Given the description of an element on the screen output the (x, y) to click on. 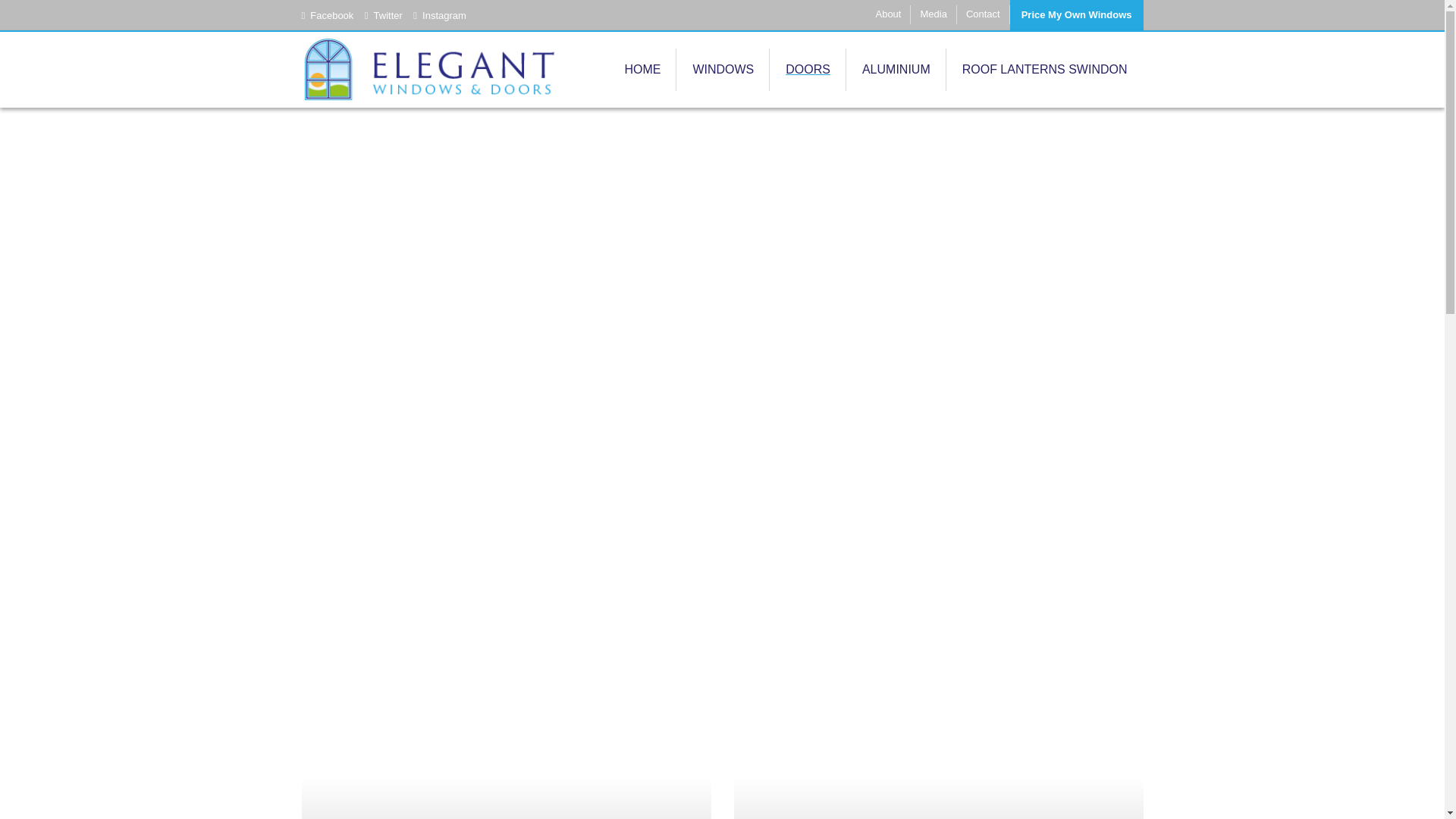
ROOF LANTERNS SWINDON (1044, 69)
Media (933, 14)
Contact (983, 14)
Price My Own Windows (1076, 15)
Facebook (327, 15)
DOORS (807, 69)
WINDOWS (723, 69)
ALUMINIUM (896, 69)
About (888, 14)
Instagram (439, 15)
